Given the description of an element on the screen output the (x, y) to click on. 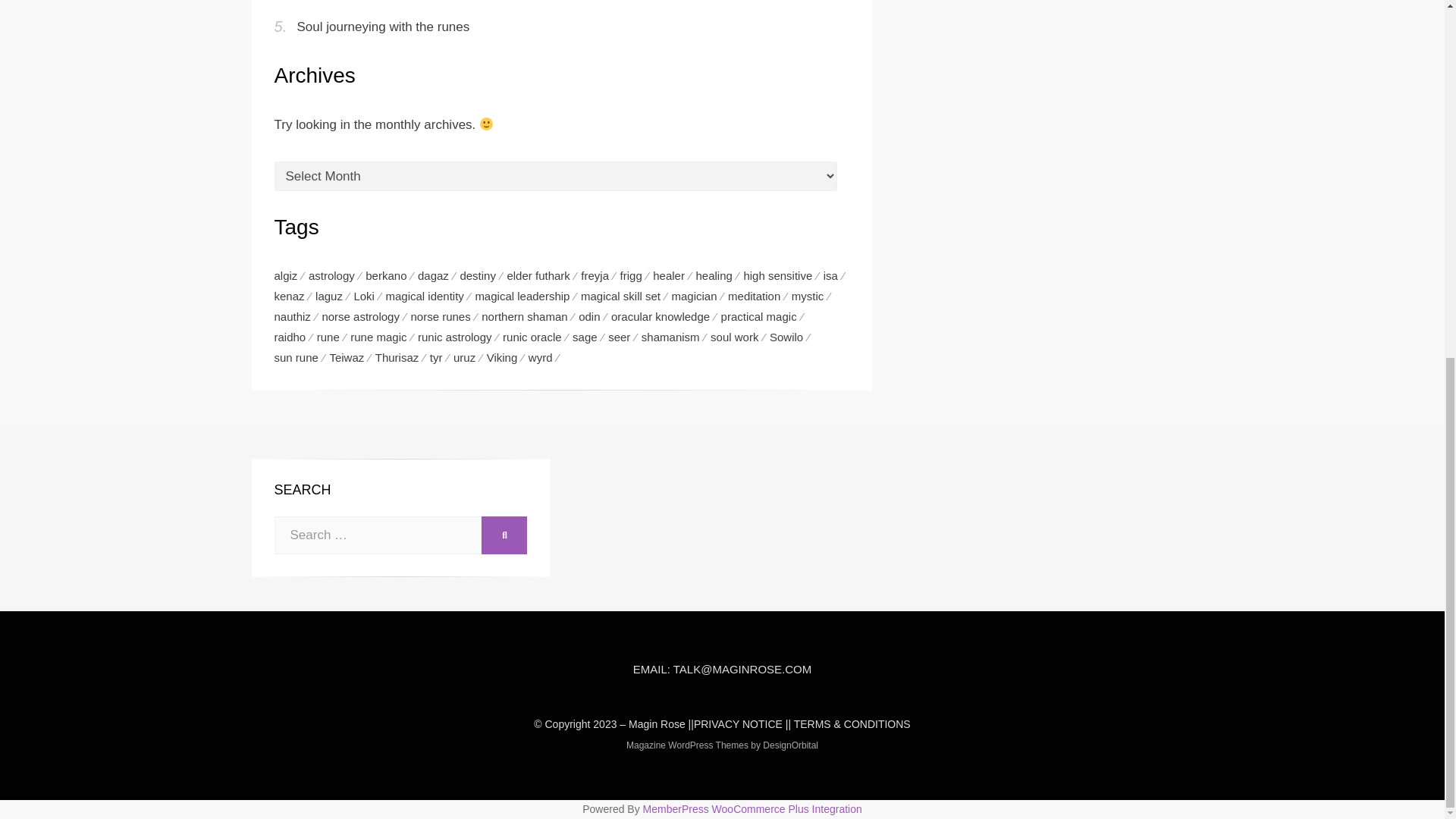
high sensitive (782, 275)
astrology (336, 275)
algiz (291, 275)
Soul journeying with the runes (383, 26)
laguz (334, 295)
isa (836, 275)
dagaz (438, 275)
kenaz (295, 295)
frigg (636, 275)
elder futhark (543, 275)
Magazine WordPress Themes (687, 745)
Search for: (378, 535)
destiny (483, 275)
Loki (369, 295)
healer (673, 275)
